Given the description of an element on the screen output the (x, y) to click on. 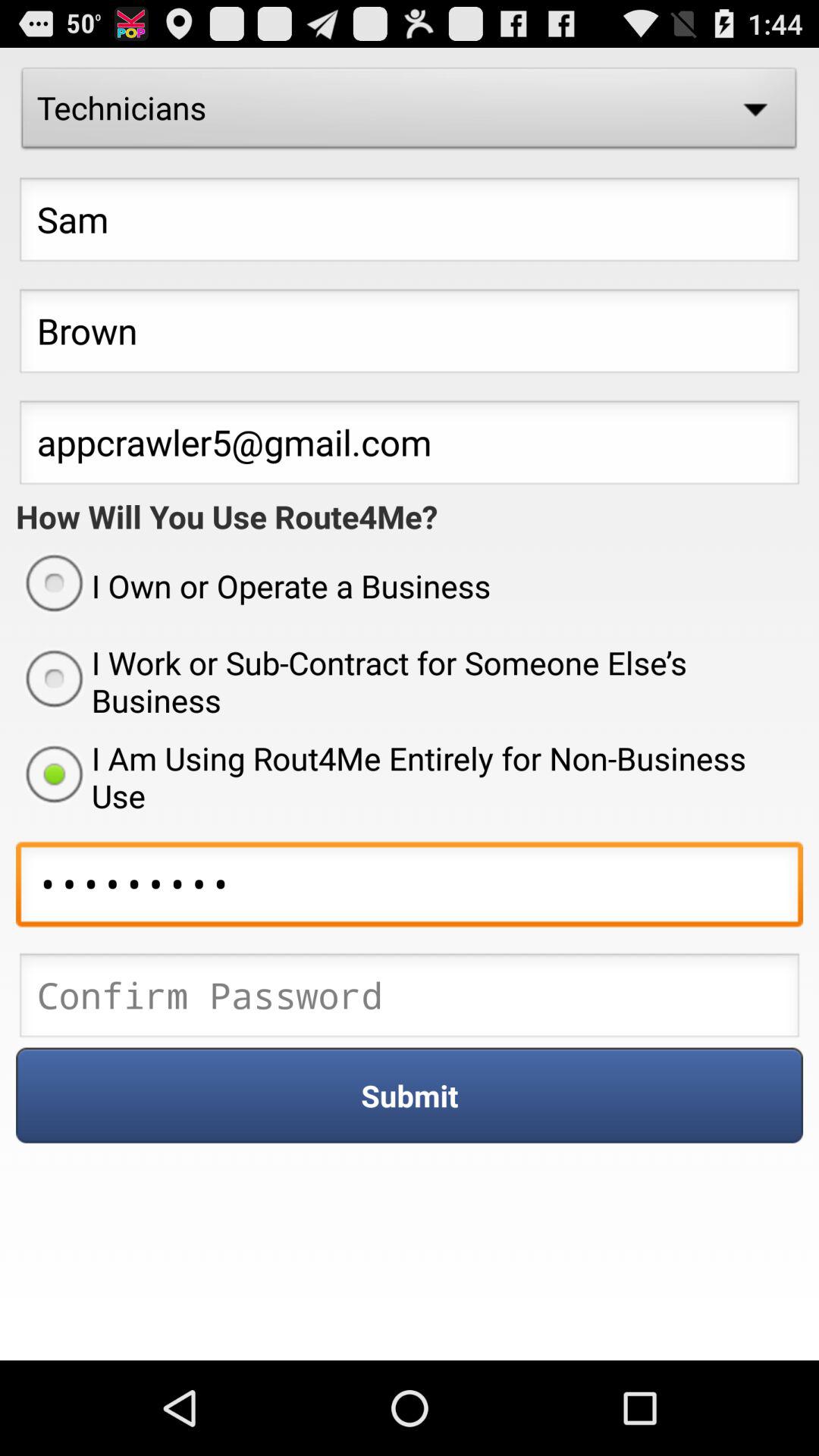
password enter button (409, 999)
